Given the description of an element on the screen output the (x, y) to click on. 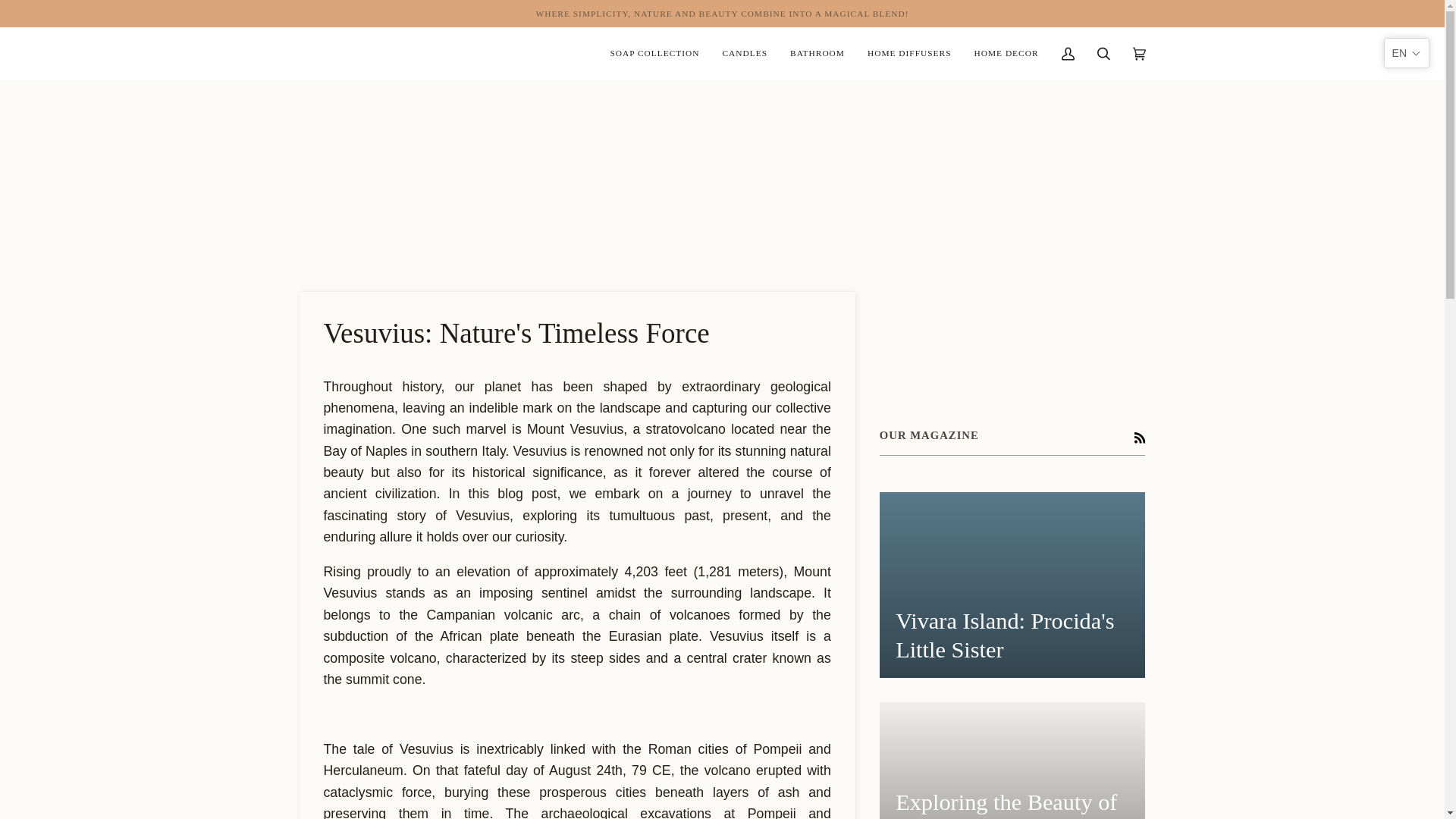
HOME DECOR (1005, 53)
SOAP COLLECTION (654, 53)
BATHROOM (817, 53)
HOME DIFFUSERS (909, 53)
CANDLES (744, 53)
